Given the description of an element on the screen output the (x, y) to click on. 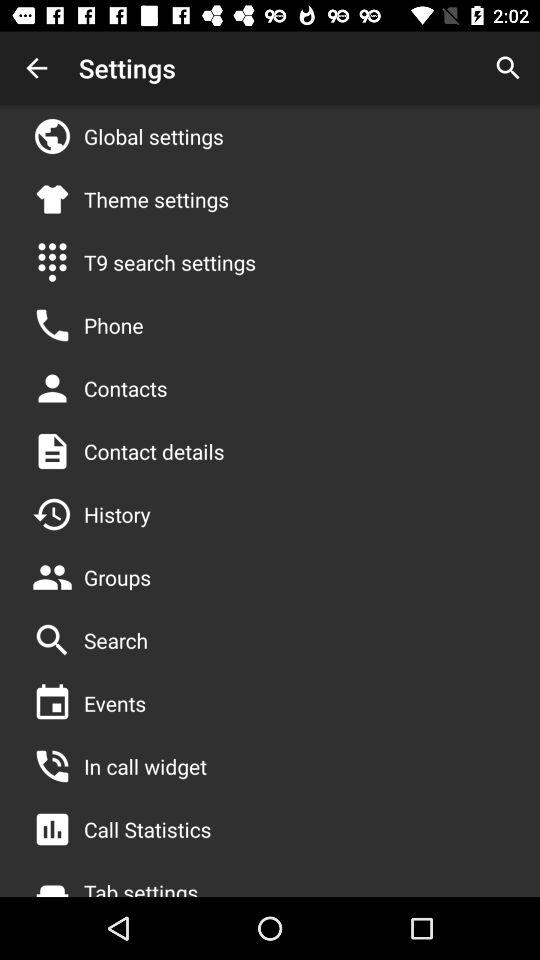
turn off the item to the left of the settings item (36, 68)
